Given the description of an element on the screen output the (x, y) to click on. 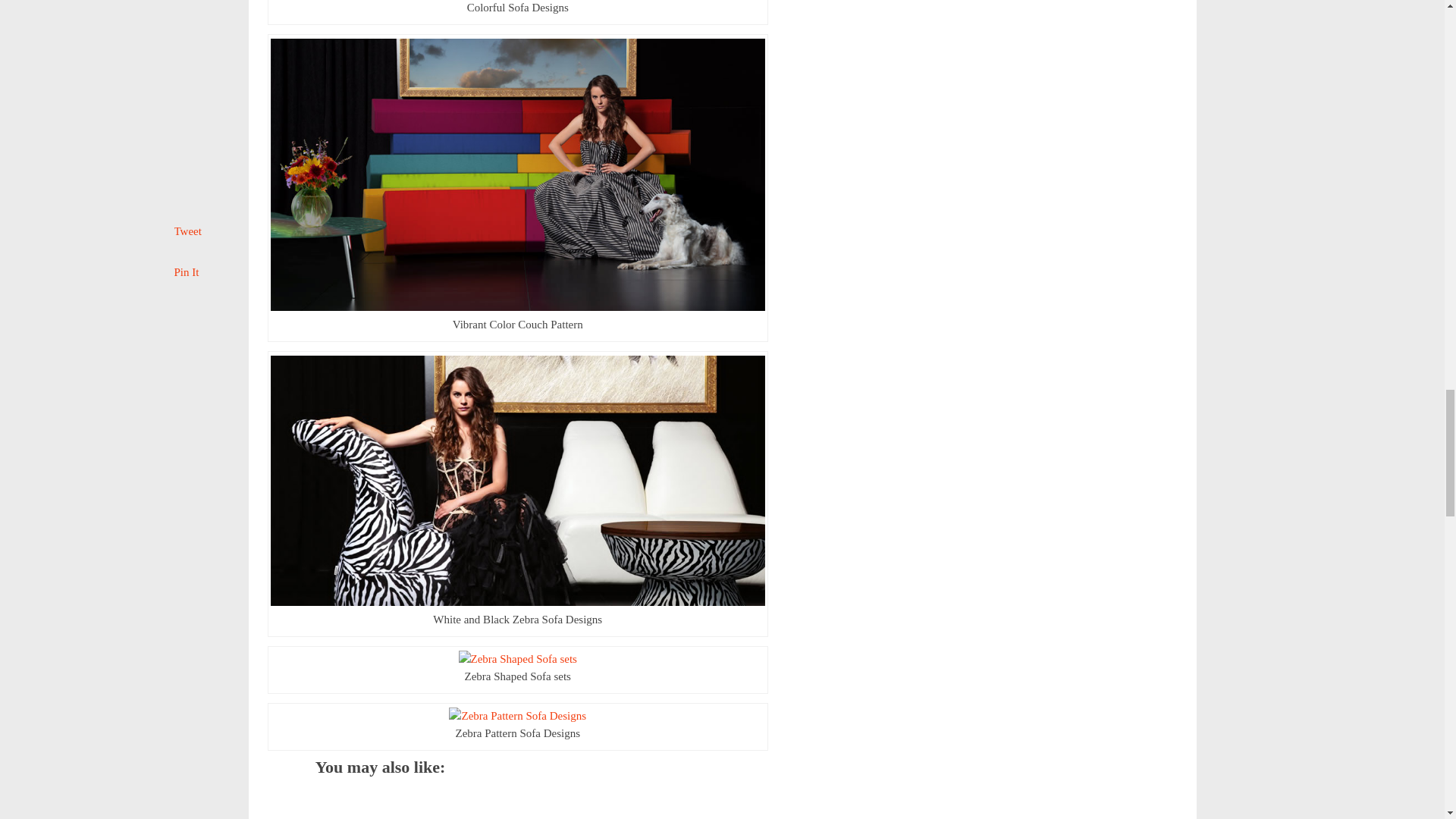
You may also like: (379, 787)
